Given the description of an element on the screen output the (x, y) to click on. 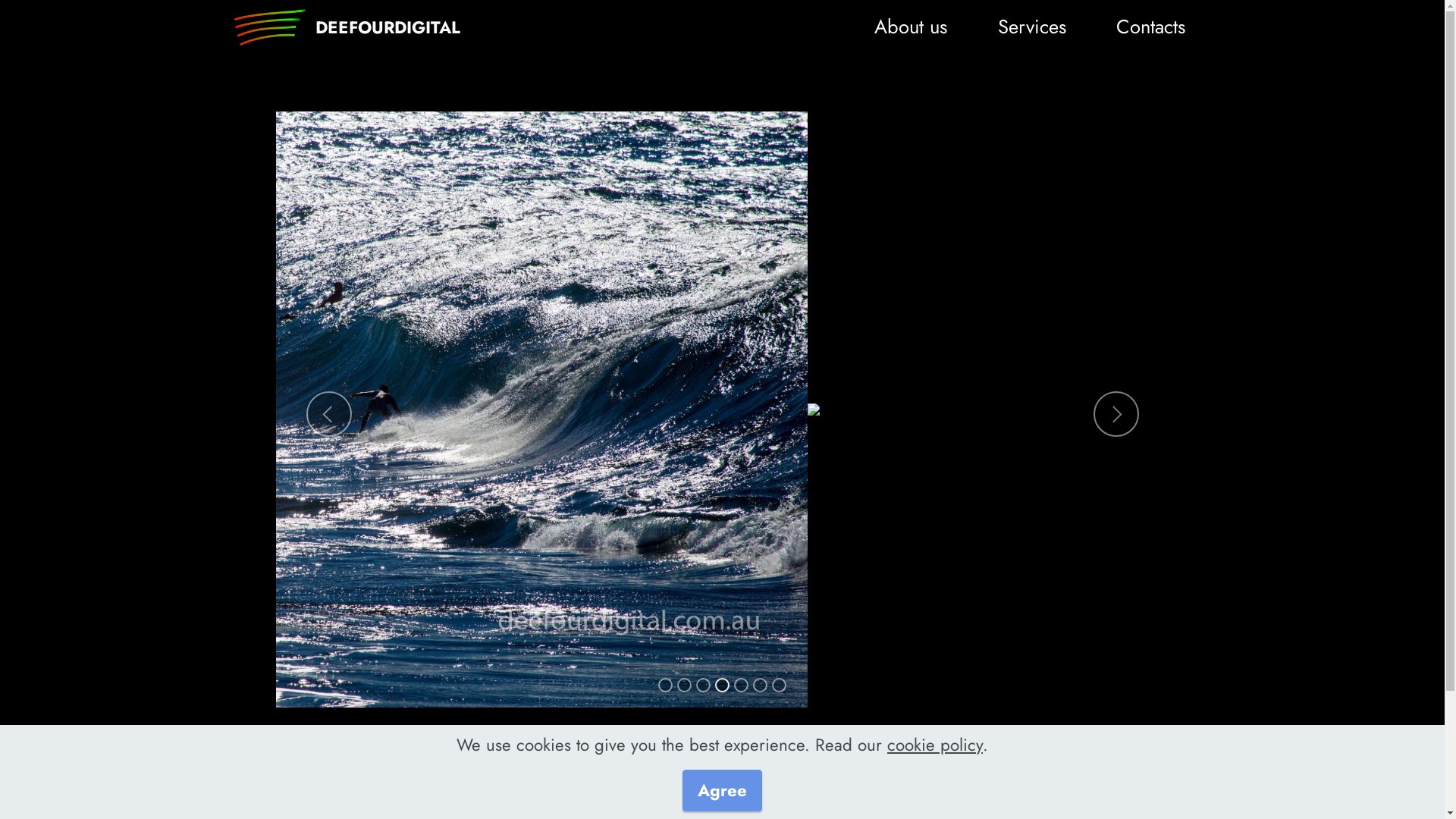
Previous Element type: text (328, 413)
About us Element type: text (911, 26)
Services Element type: text (1031, 26)
DEEFOURDIGITAL Element type: text (387, 26)
Agree Element type: text (722, 790)
Next Element type: text (1116, 413)
Contacts Element type: text (1150, 26)
cookie policy Element type: text (934, 744)
